Given the description of an element on the screen output the (x, y) to click on. 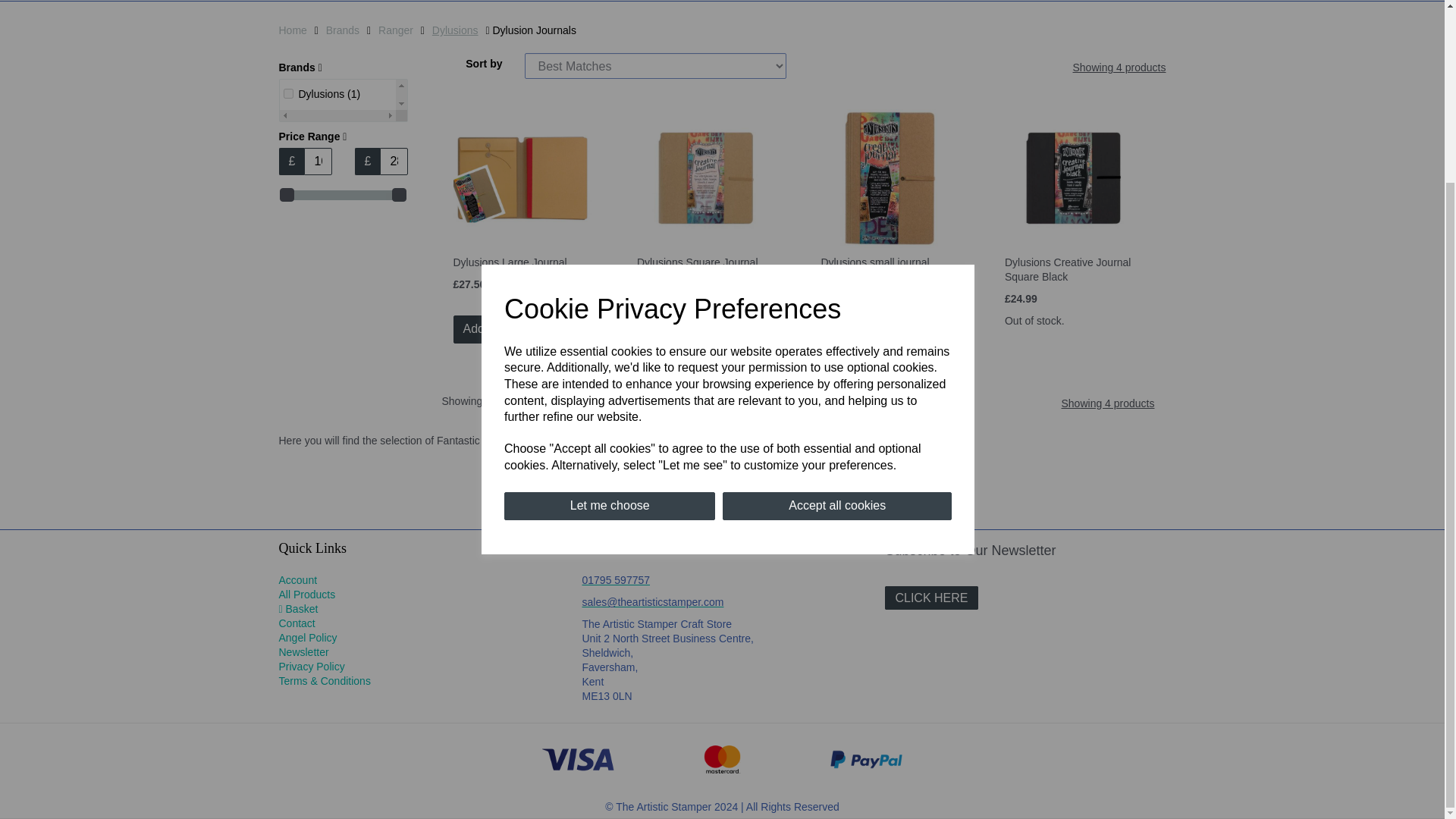
16 (317, 161)
28 (393, 161)
Accept all cookies (837, 281)
17 (288, 93)
Let me choose (608, 281)
